Given the description of an element on the screen output the (x, y) to click on. 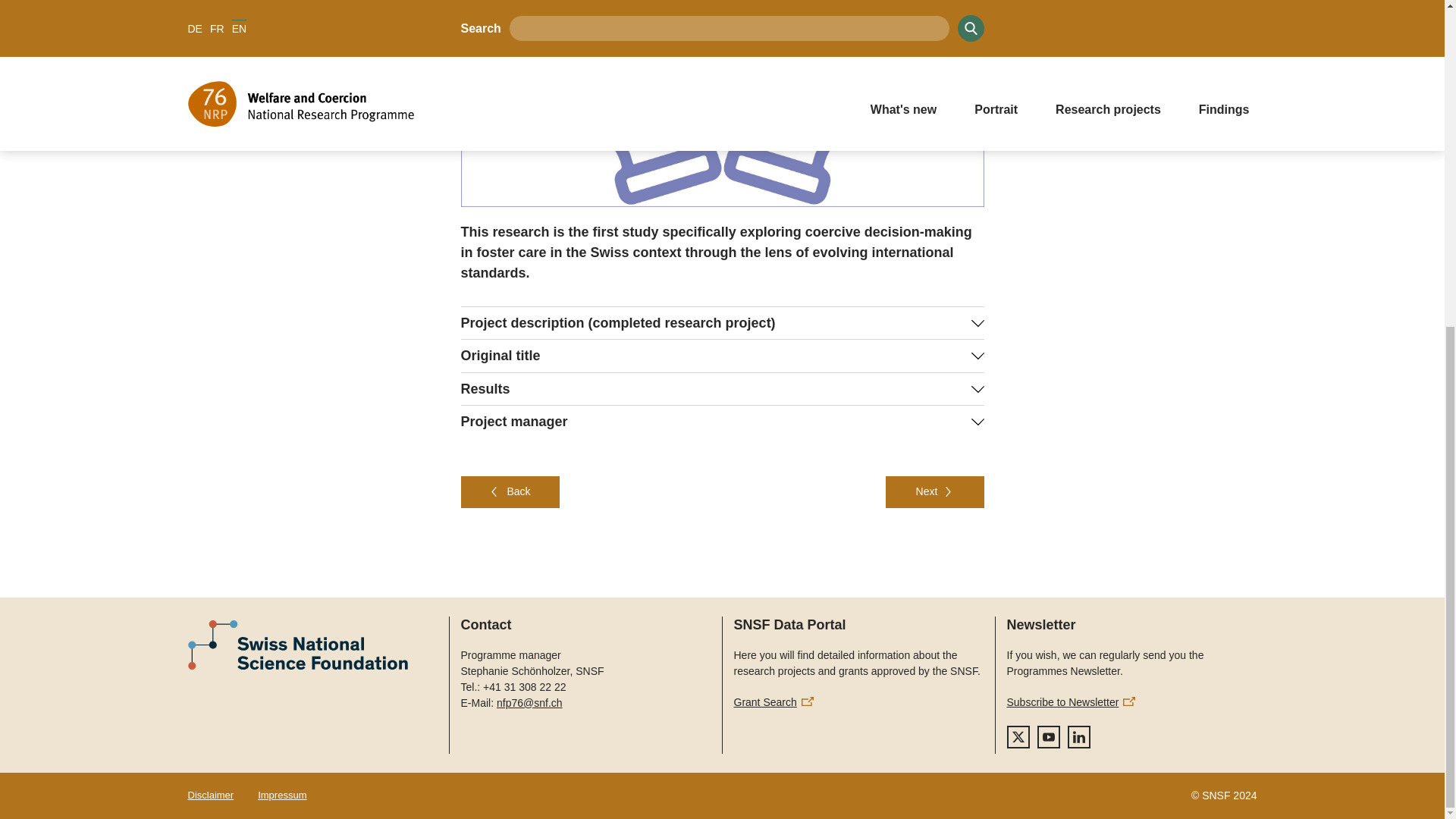
YouTube Icon (1048, 736)
LinkedIn Icon (1077, 736)
Logo (297, 644)
Next (934, 491)
Logo (312, 646)
External Link Icon (807, 701)
Back (510, 491)
External Link Icon (1128, 701)
